Given the description of an element on the screen output the (x, y) to click on. 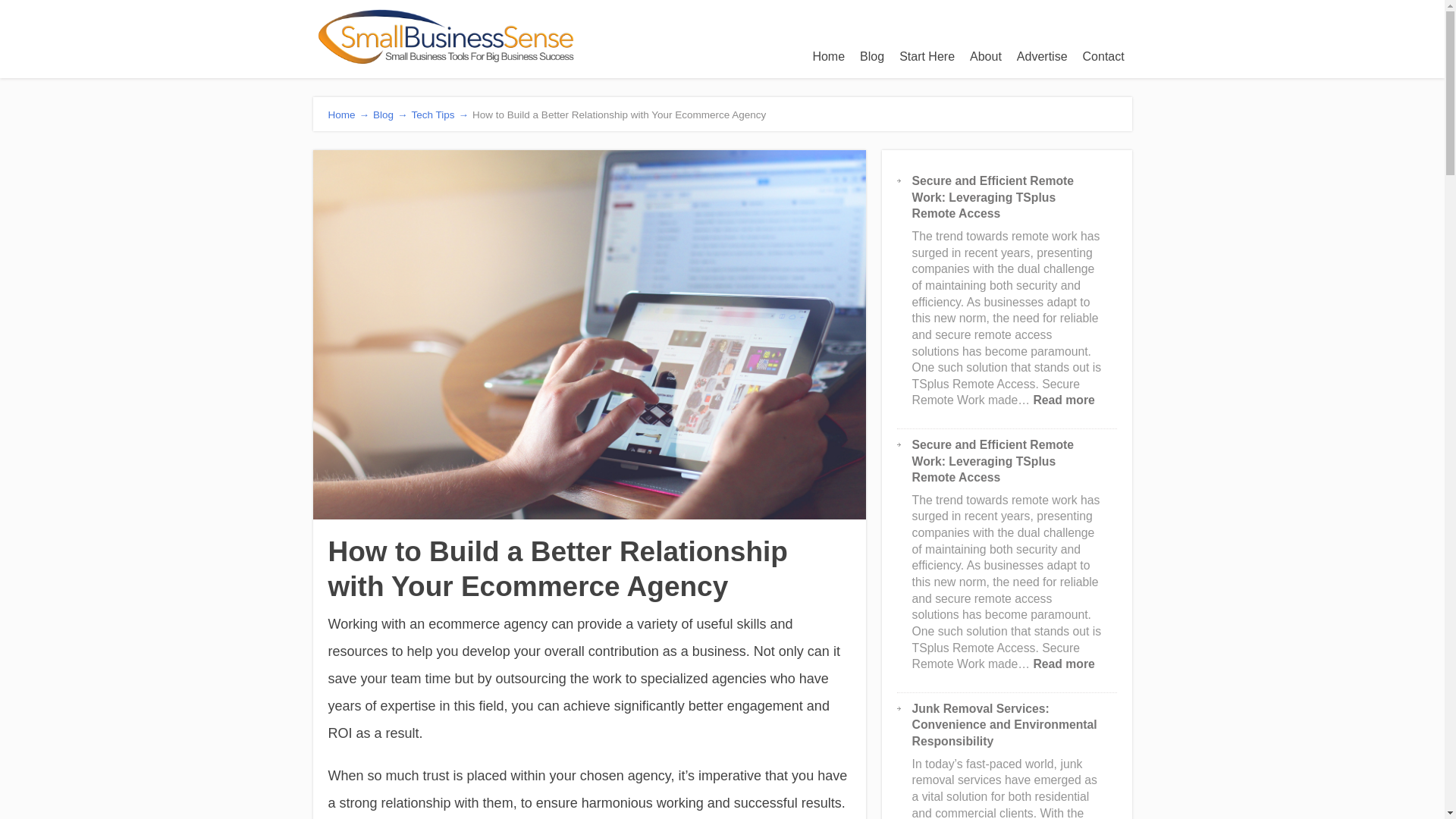
About (985, 56)
Home (828, 56)
Start Here (926, 56)
Advertise (1042, 56)
Blog (871, 56)
